Given the description of an element on the screen output the (x, y) to click on. 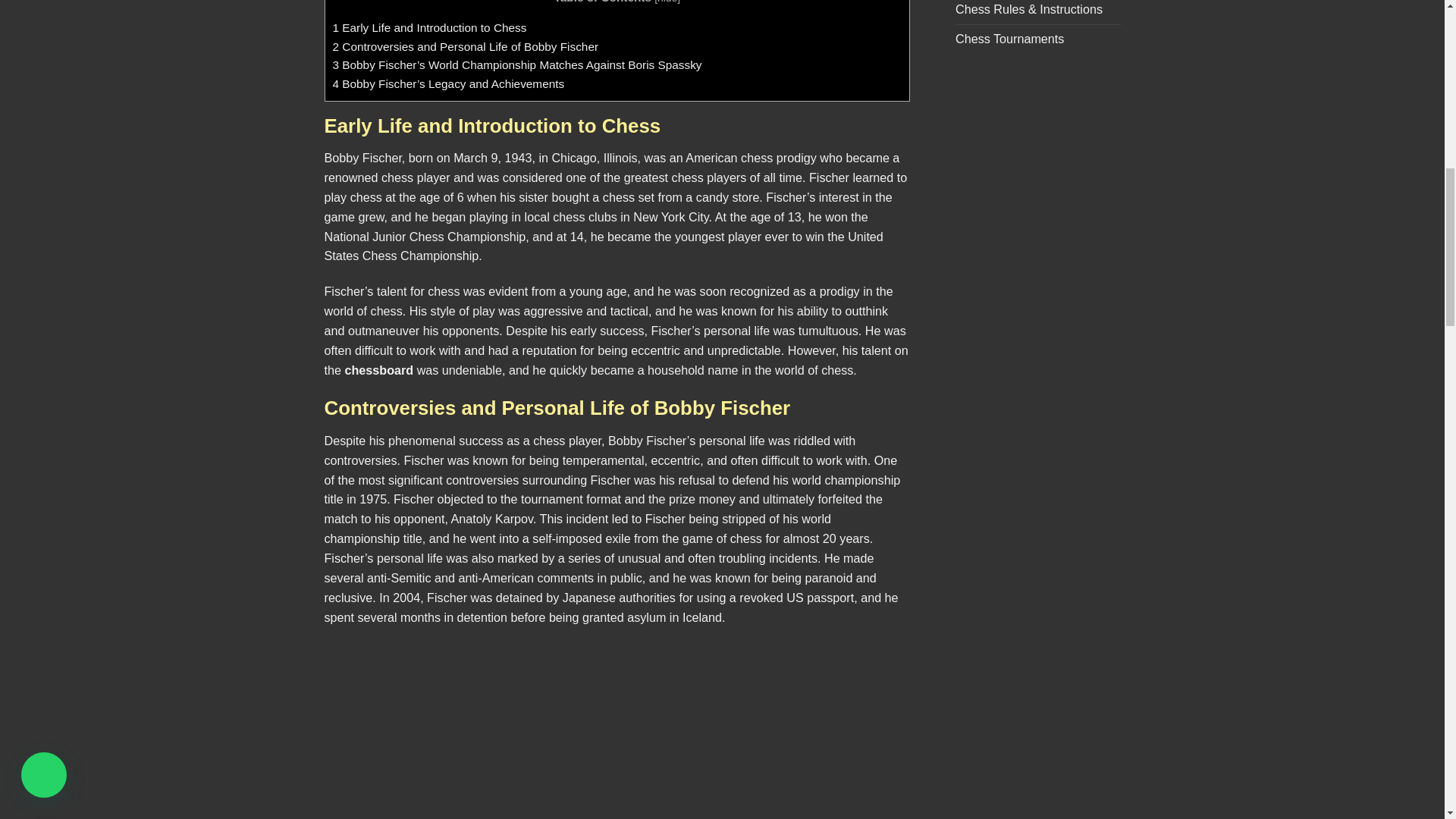
2 Controversies and Personal Life of Bobby Fischer (464, 46)
hide (667, 2)
Bobby Fischer - Prodigious Chess Player 2 (617, 730)
1 Early Life and Introduction to Chess (428, 27)
chessboard (378, 369)
